Given the description of an element on the screen output the (x, y) to click on. 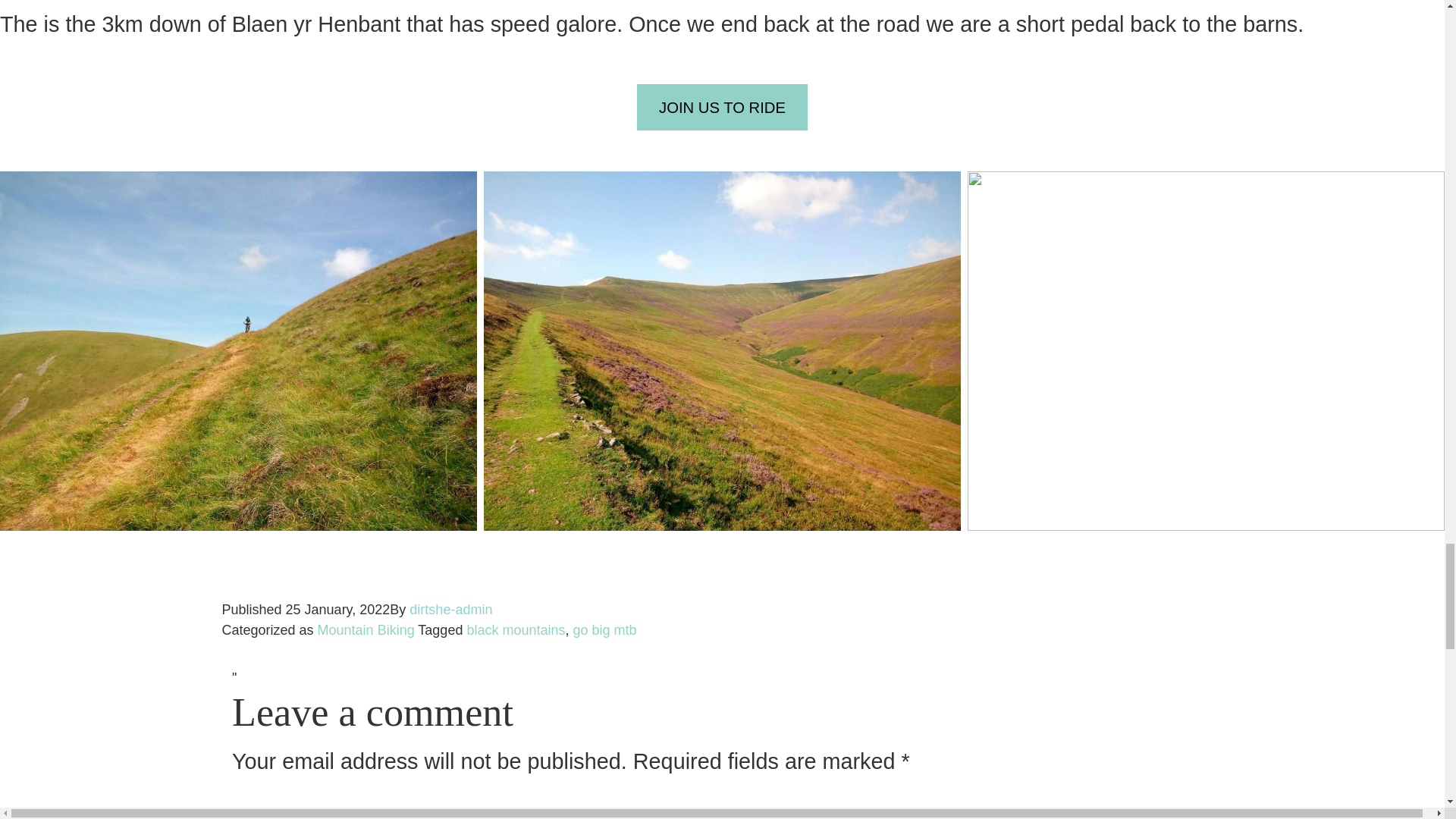
JOIN US TO RIDE (722, 107)
Mountain Biking (365, 630)
go big mtb (605, 630)
black mountains (514, 630)
dirtshe-admin (450, 609)
